Given the description of an element on the screen output the (x, y) to click on. 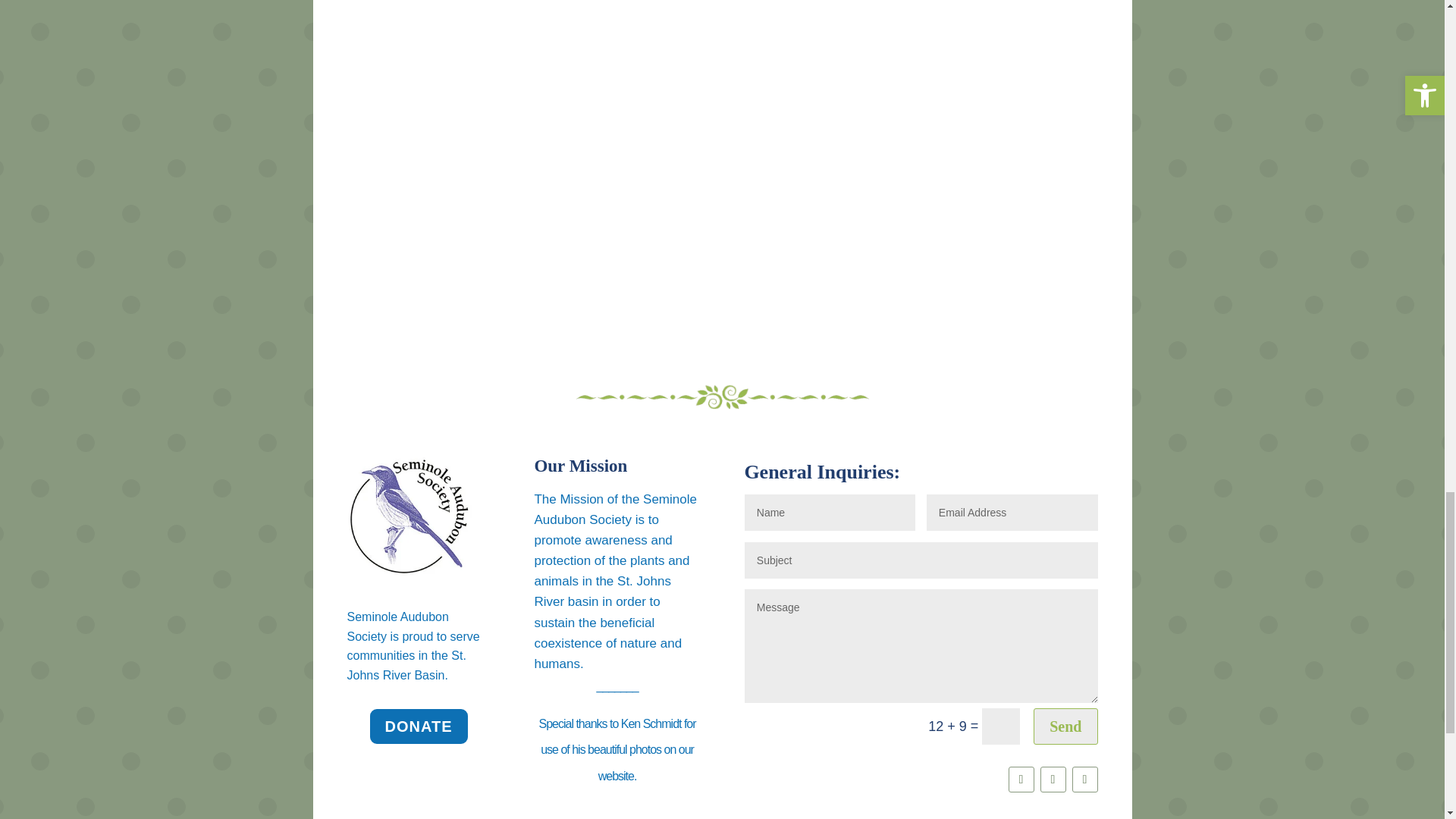
Follow on Facebook (1084, 779)
Follow on X (1053, 779)
Follow on Meetup (1021, 779)
SAS-Boarder-GRN (721, 397)
